Given the description of an element on the screen output the (x, y) to click on. 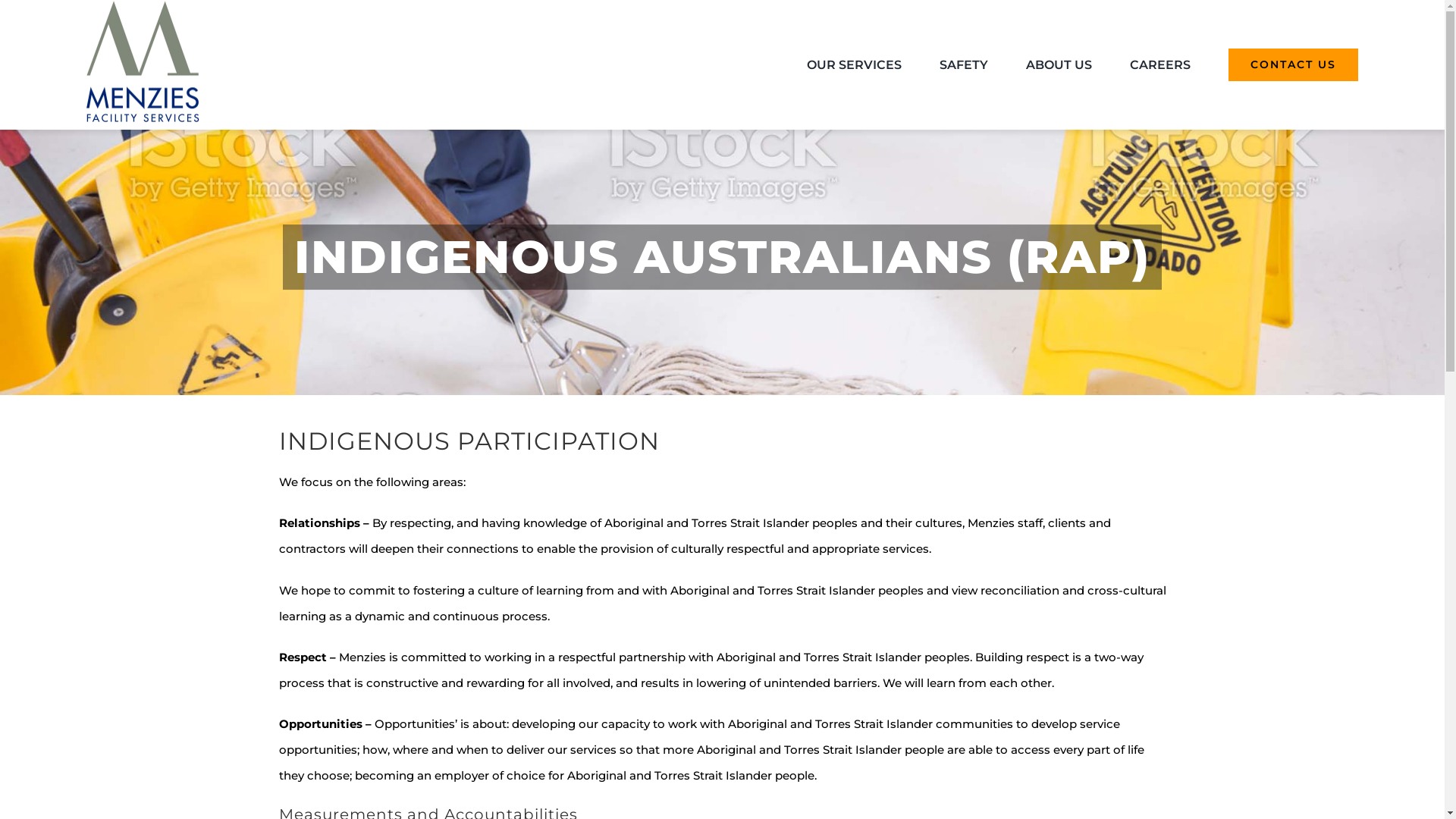
ABOUT US Element type: text (1059, 64)
CAREERS Element type: text (1159, 64)
OUR SERVICES Element type: text (853, 64)
CONTACT US Element type: text (1293, 64)
SAFETY Element type: text (963, 64)
